Given the description of an element on the screen output the (x, y) to click on. 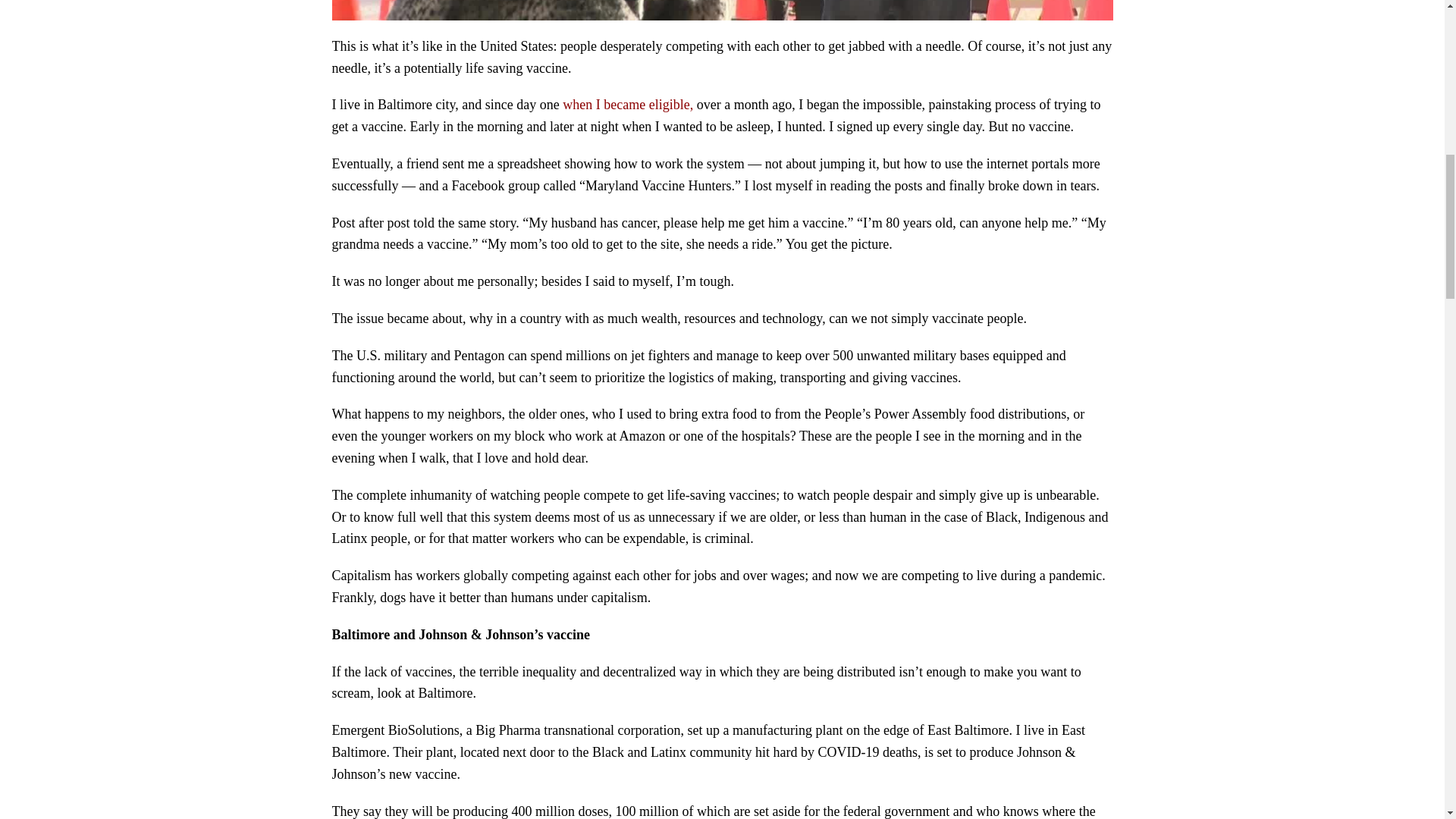
when I became eligible, (627, 104)
